Given the description of an element on the screen output the (x, y) to click on. 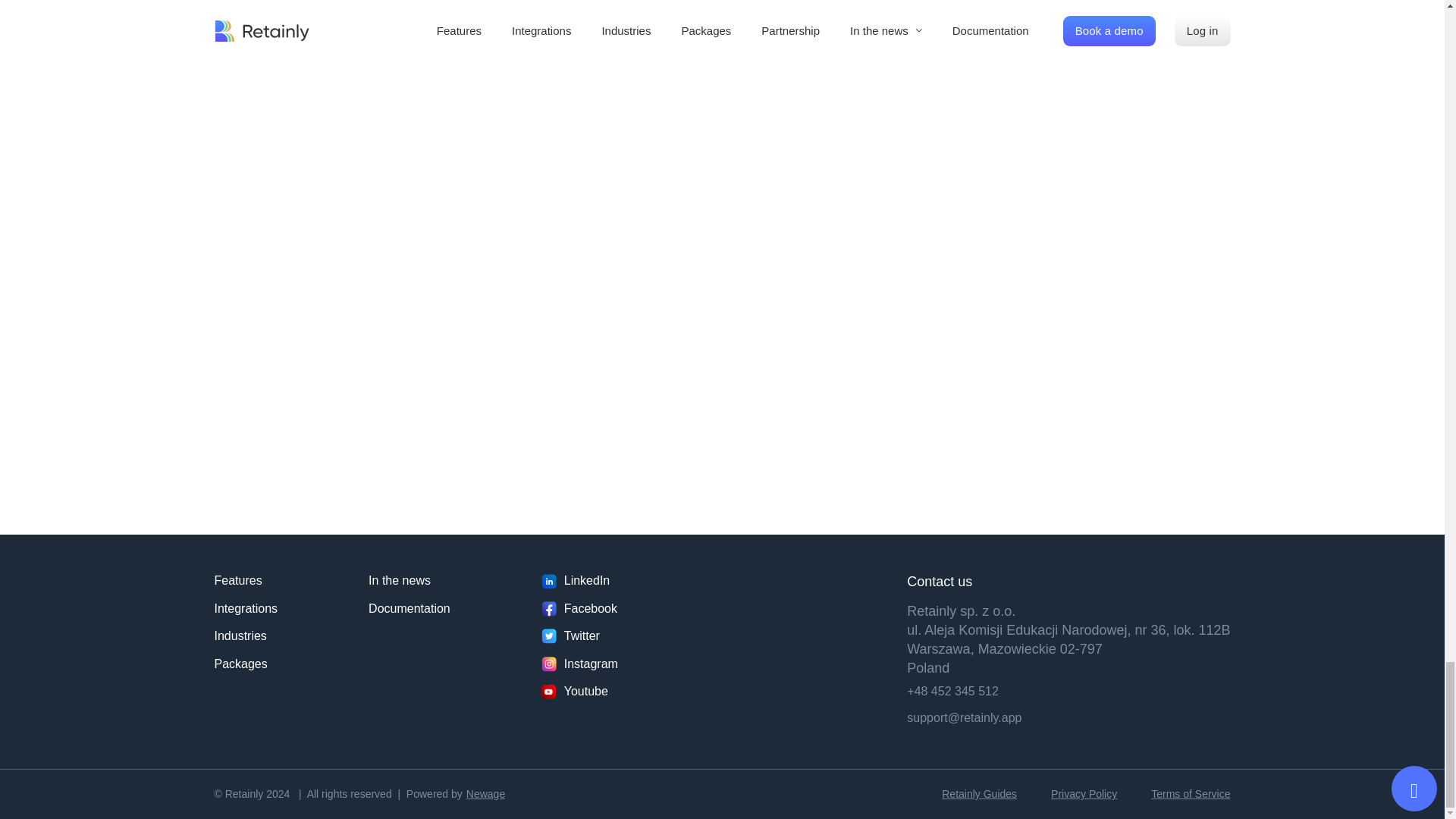
Features (246, 580)
Packages (246, 663)
LinkedIn (579, 580)
Twitter (579, 636)
Integrations (246, 608)
LinkedIn (579, 580)
Facebook (579, 608)
Facebook (579, 608)
Documentation (408, 608)
Industries (246, 636)
Youtube (579, 691)
Instagram (579, 663)
In the news (408, 580)
Instagram (579, 663)
Twitter (579, 636)
